Given the description of an element on the screen output the (x, y) to click on. 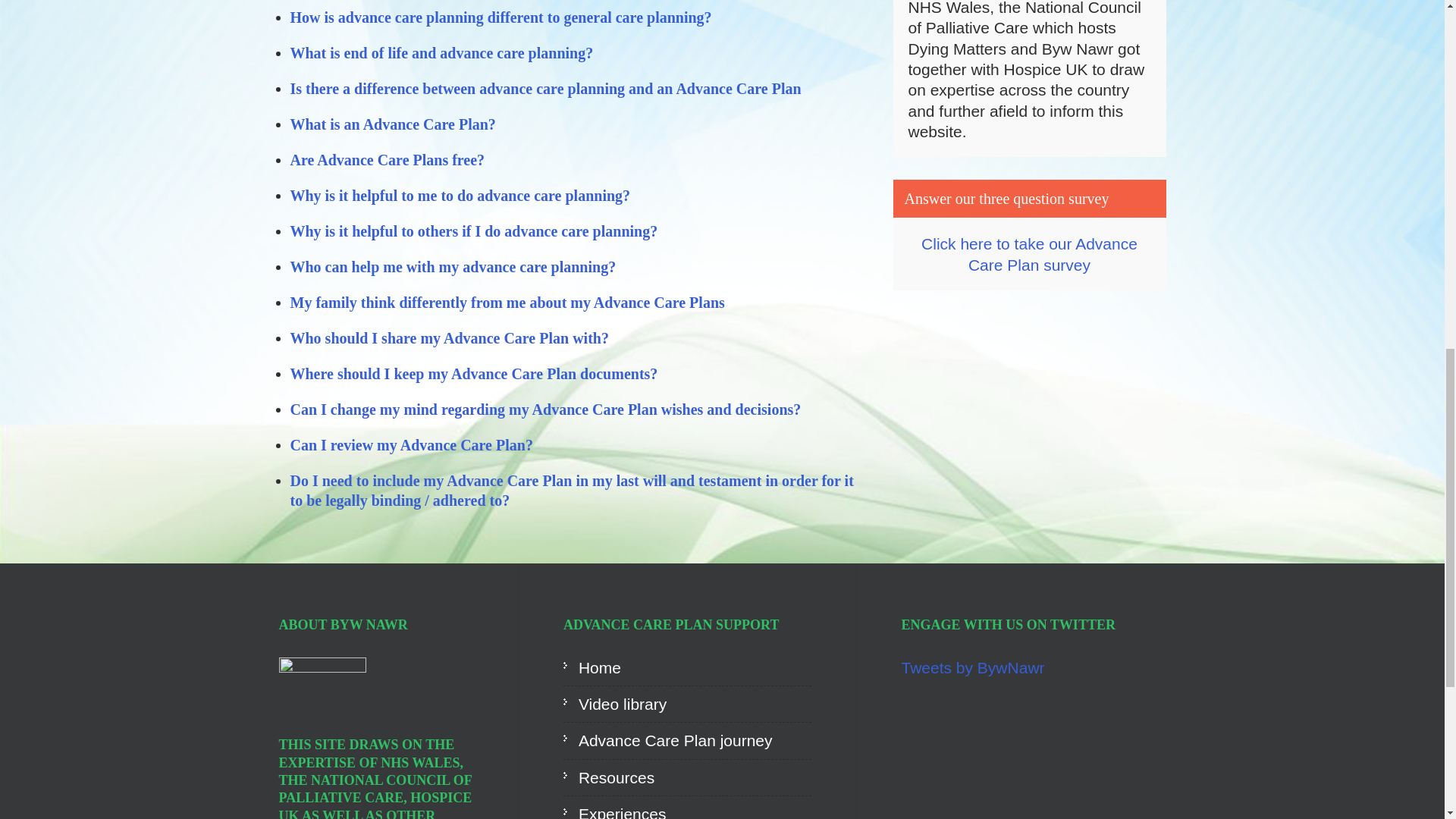
Are Advance Care Plans free? (386, 159)
Who should I share my Advance Care Plan with? (448, 338)
What is an Advance Care Plan? (392, 124)
What is end of life and advance care planning? (440, 53)
Can I review my Advance Care Plan?  (412, 444)
Why is it helpful to me to do advance care planning? (459, 195)
Why is it helpful to others if I do advance care planning? (473, 230)
Who can help me with my advance care planning? (452, 266)
Where should I keep my Advance Care Plan documents? (473, 373)
